Given the description of an element on the screen output the (x, y) to click on. 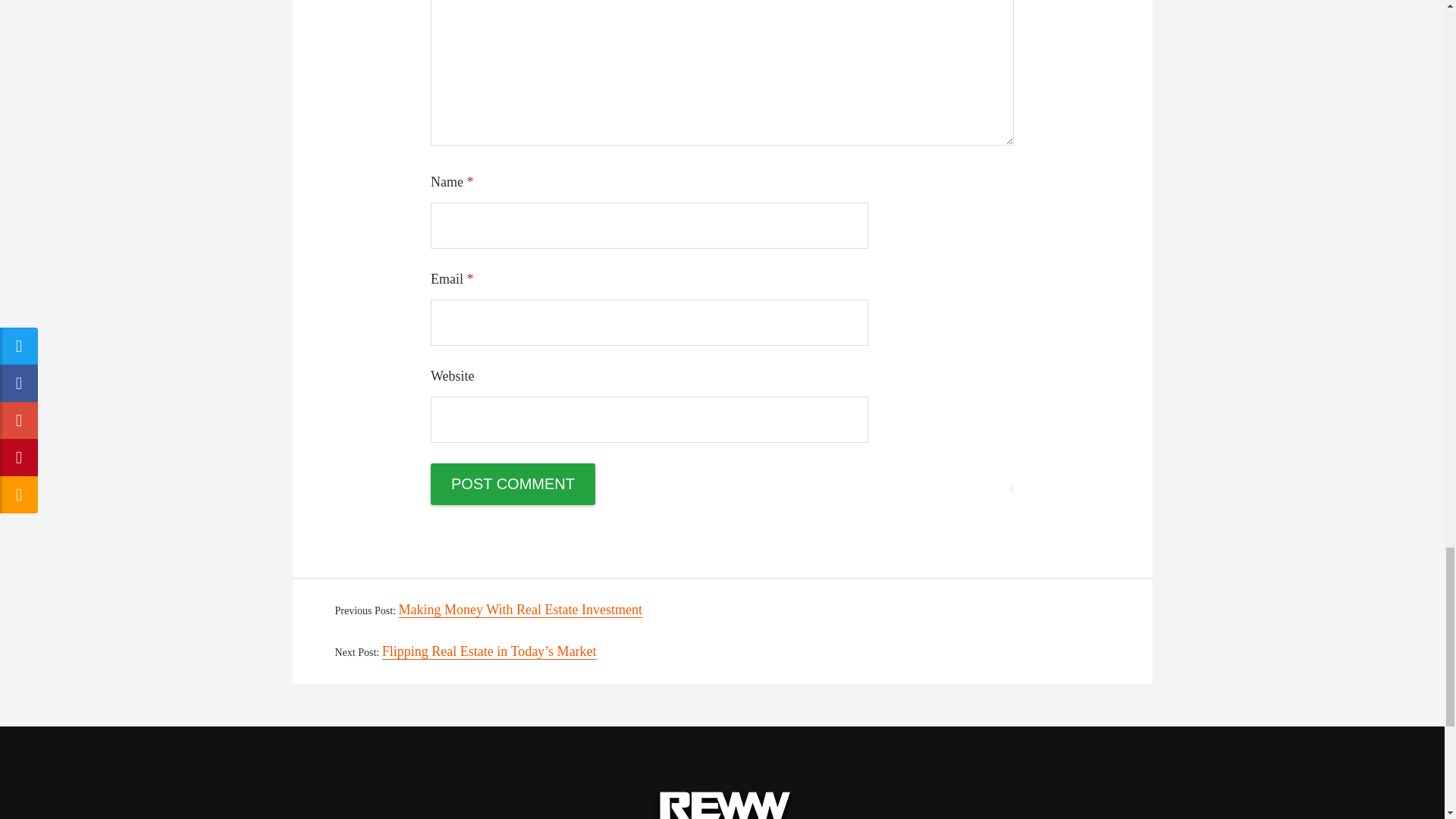
Post Comment (512, 484)
